Given the description of an element on the screen output the (x, y) to click on. 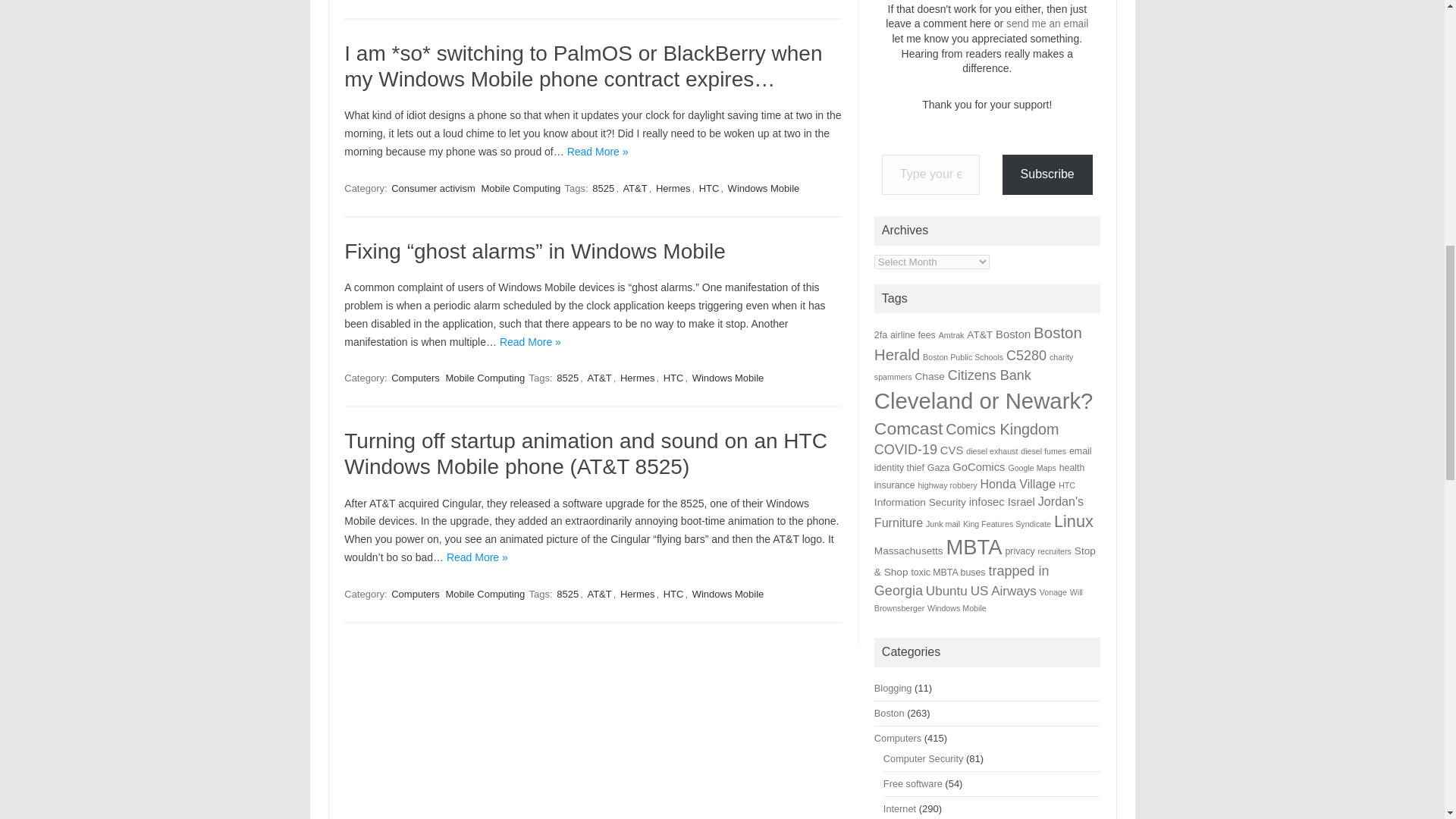
Hermes (637, 377)
Computers (415, 377)
Windows Mobile (764, 187)
8525 (603, 187)
Consumer activism (433, 187)
Hermes (673, 187)
8525 (566, 377)
Please fill in this field. (930, 174)
Mobile Computing (484, 377)
HTC (673, 377)
Mobile Computing (520, 187)
HTC (708, 187)
